Given the description of an element on the screen output the (x, y) to click on. 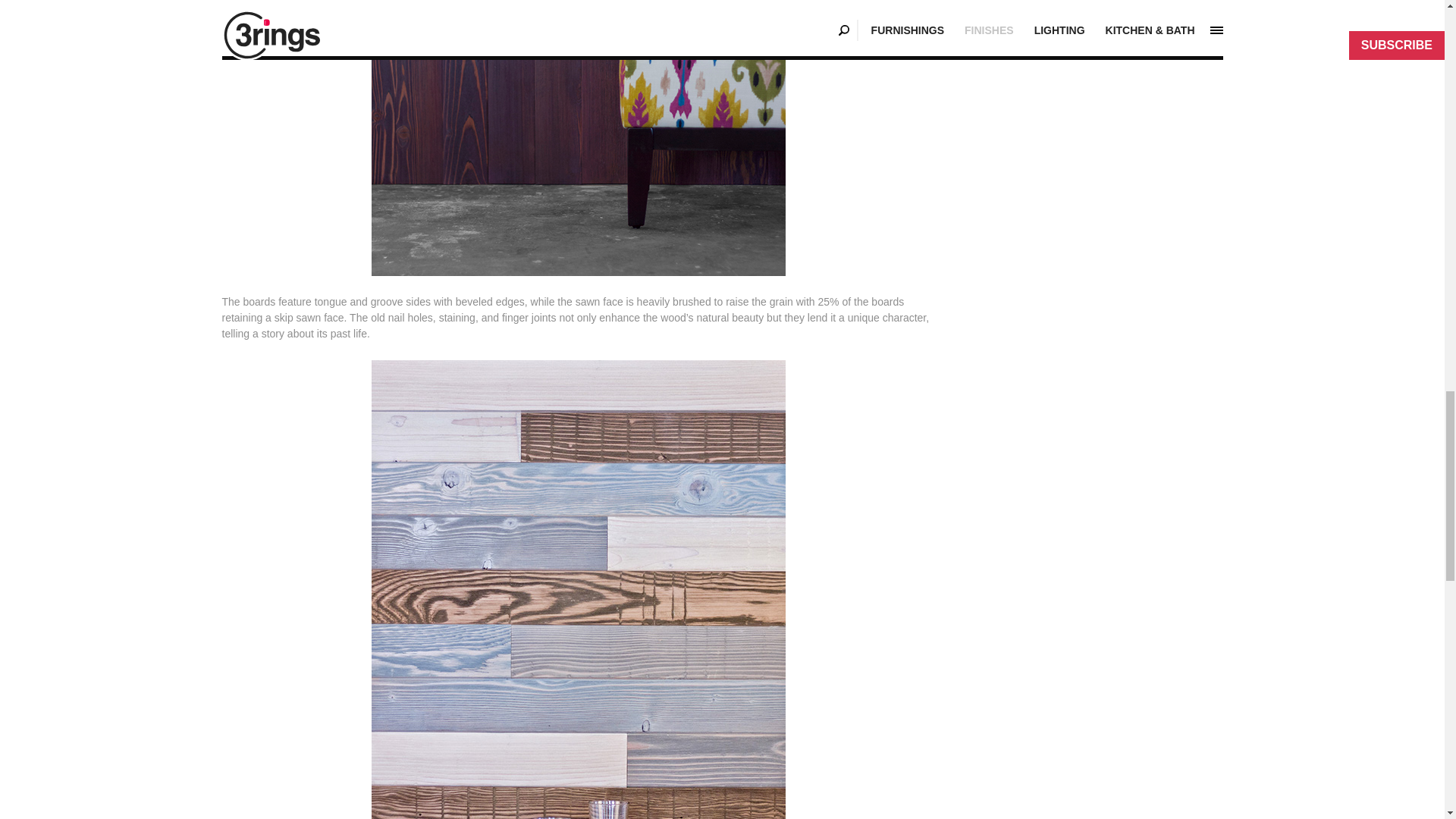
Color Cladding by Windfall Lumber and YOLO Colorhouse (578, 138)
